Given the description of an element on the screen output the (x, y) to click on. 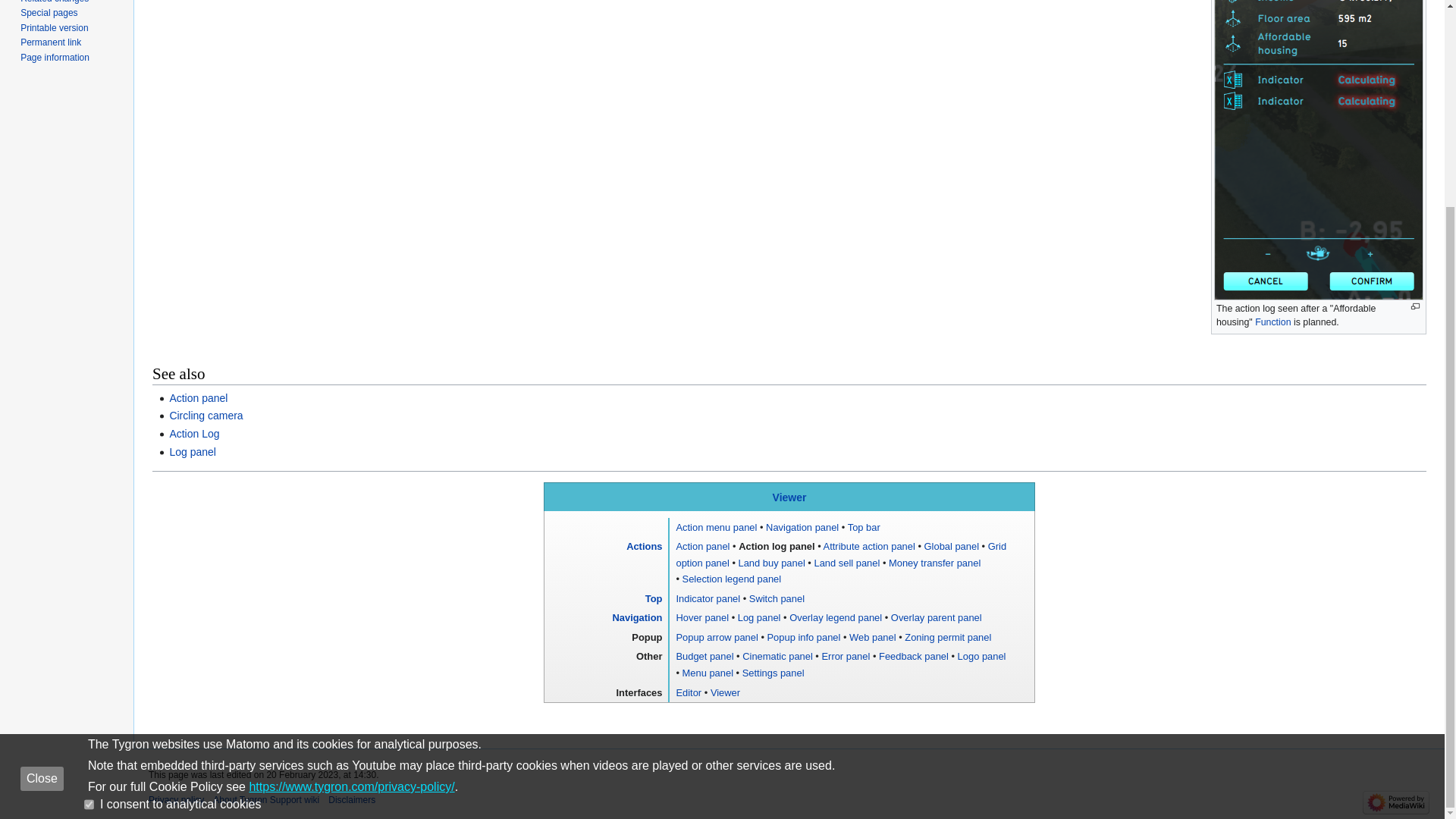
Action log panel (775, 546)
Attribute action panel (869, 546)
Global panel (951, 546)
Action menu panel (716, 527)
Action panel (197, 398)
Land buy panel (771, 562)
Indicator panel (707, 598)
Function (1272, 321)
Money transfer panel (933, 562)
Action panel (197, 398)
Grid option panel (840, 554)
Log panel (191, 451)
Log panel (191, 451)
Top bar (863, 527)
Circling camera (205, 415)
